Given the description of an element on the screen output the (x, y) to click on. 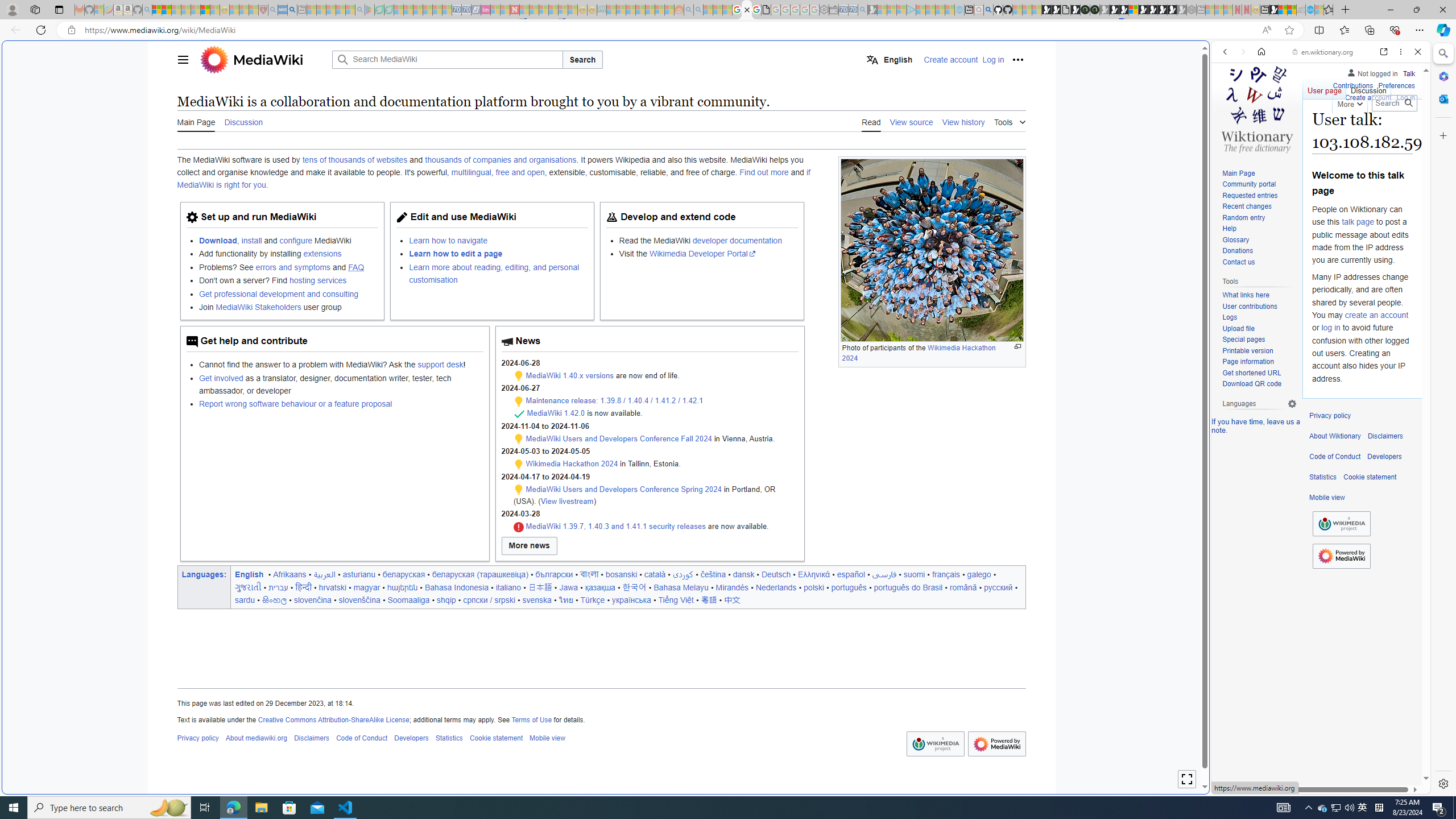
Maintenance release: 1.39.8 / 1.40.4 / 1.41.2 / 1.42.1 (614, 400)
Glossary (1235, 239)
View livestream (567, 500)
About mediawiki.org (255, 738)
Special pages (1243, 339)
